Given the description of an element on the screen output the (x, y) to click on. 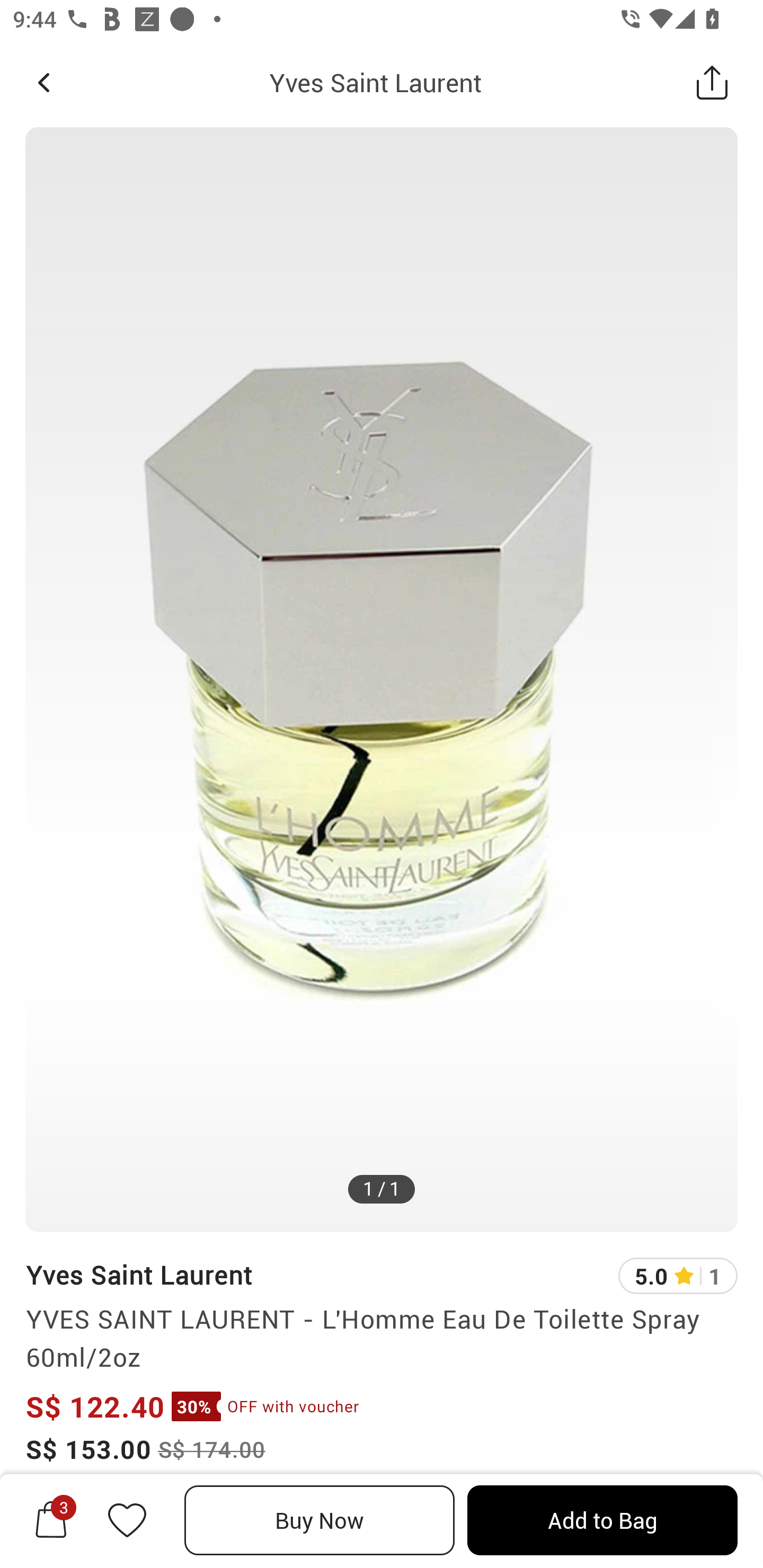
Yves Saint Laurent (375, 82)
Share this Product (711, 82)
Yves Saint Laurent (138, 1274)
5.0 1 (677, 1275)
Buy Now (319, 1519)
Add to Bag (601, 1519)
3 (50, 1520)
